Given the description of an element on the screen output the (x, y) to click on. 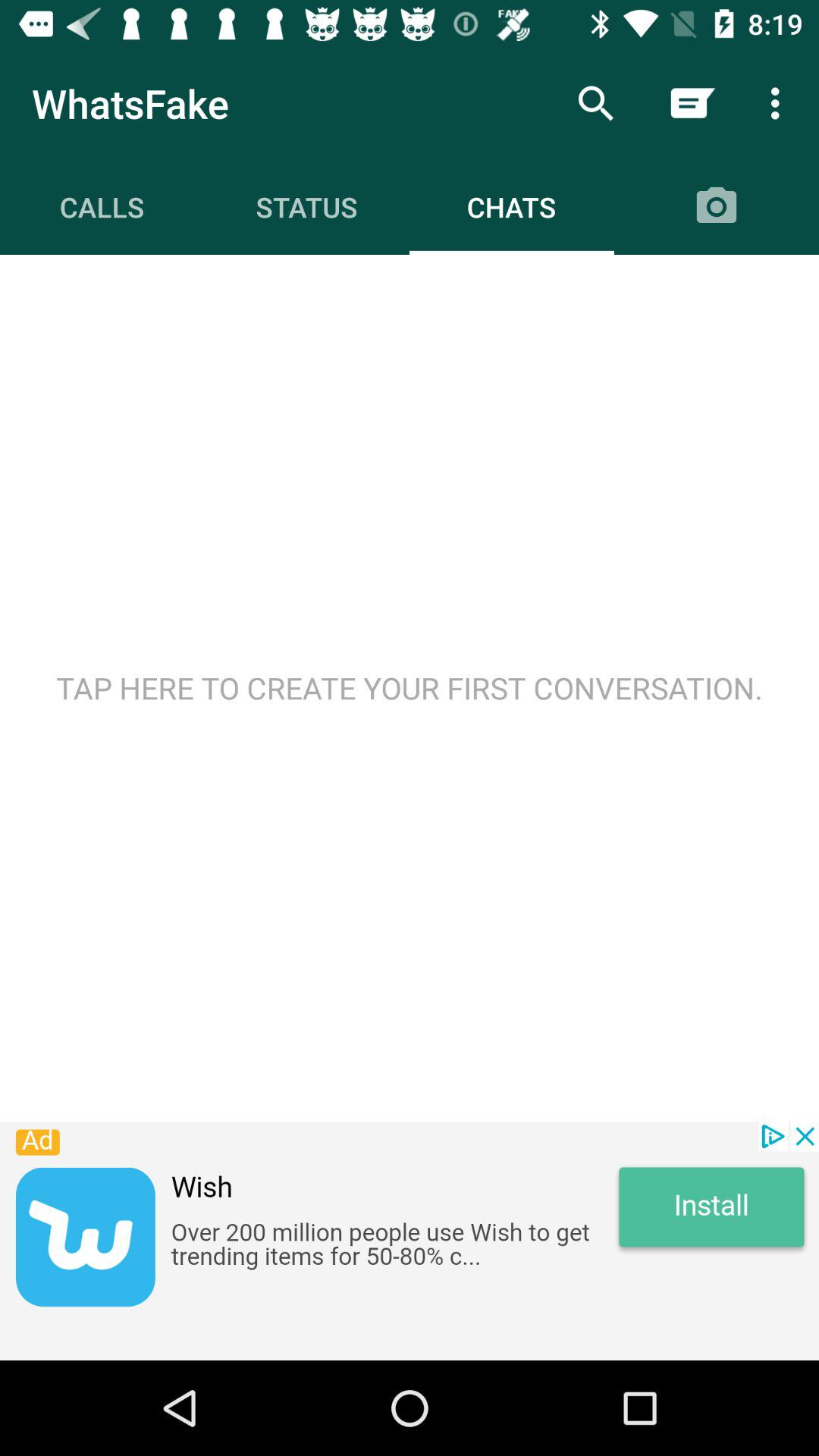
banner of advertiser (409, 1240)
